Given the description of an element on the screen output the (x, y) to click on. 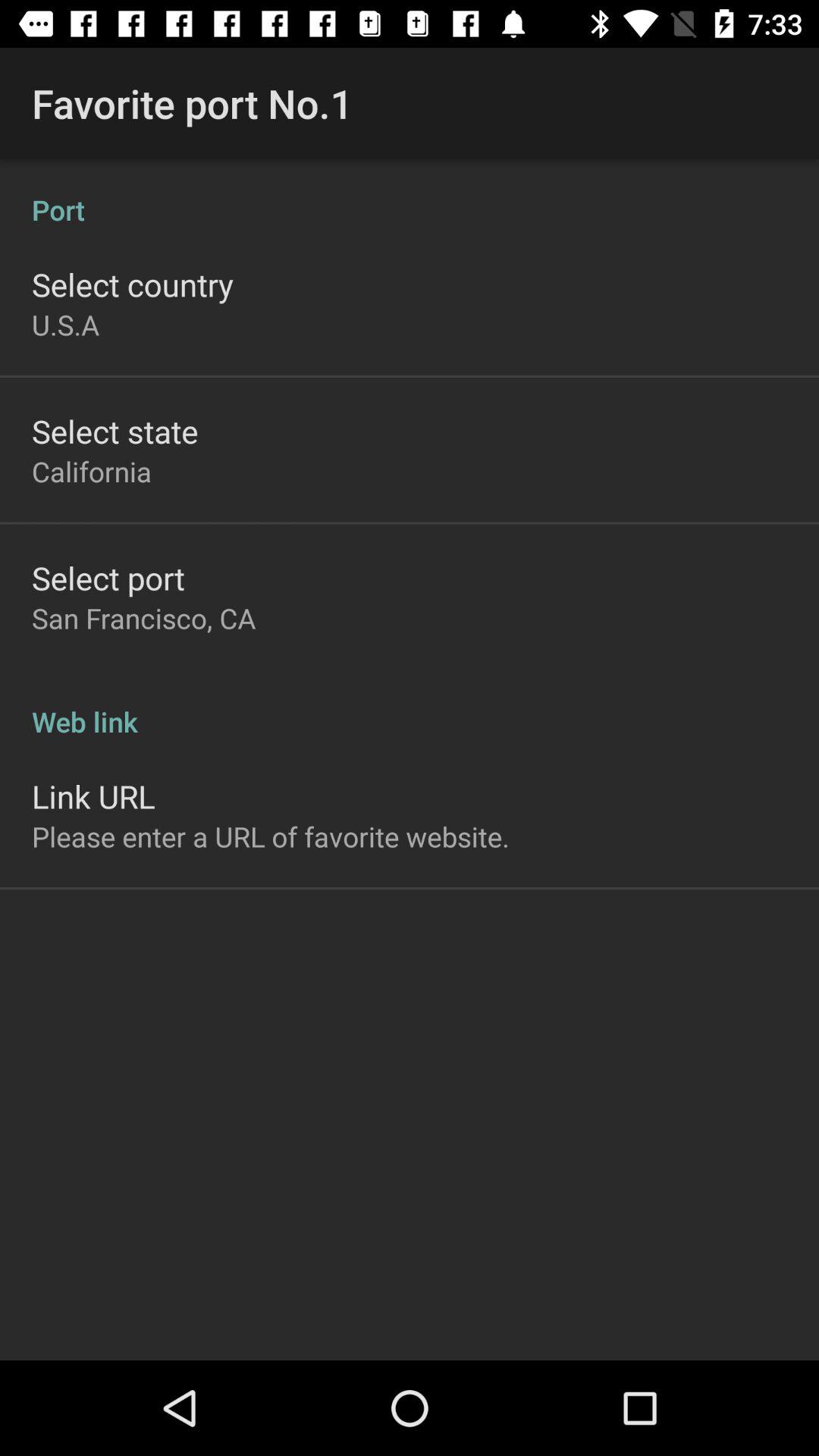
press the select state app (114, 430)
